Given the description of an element on the screen output the (x, y) to click on. 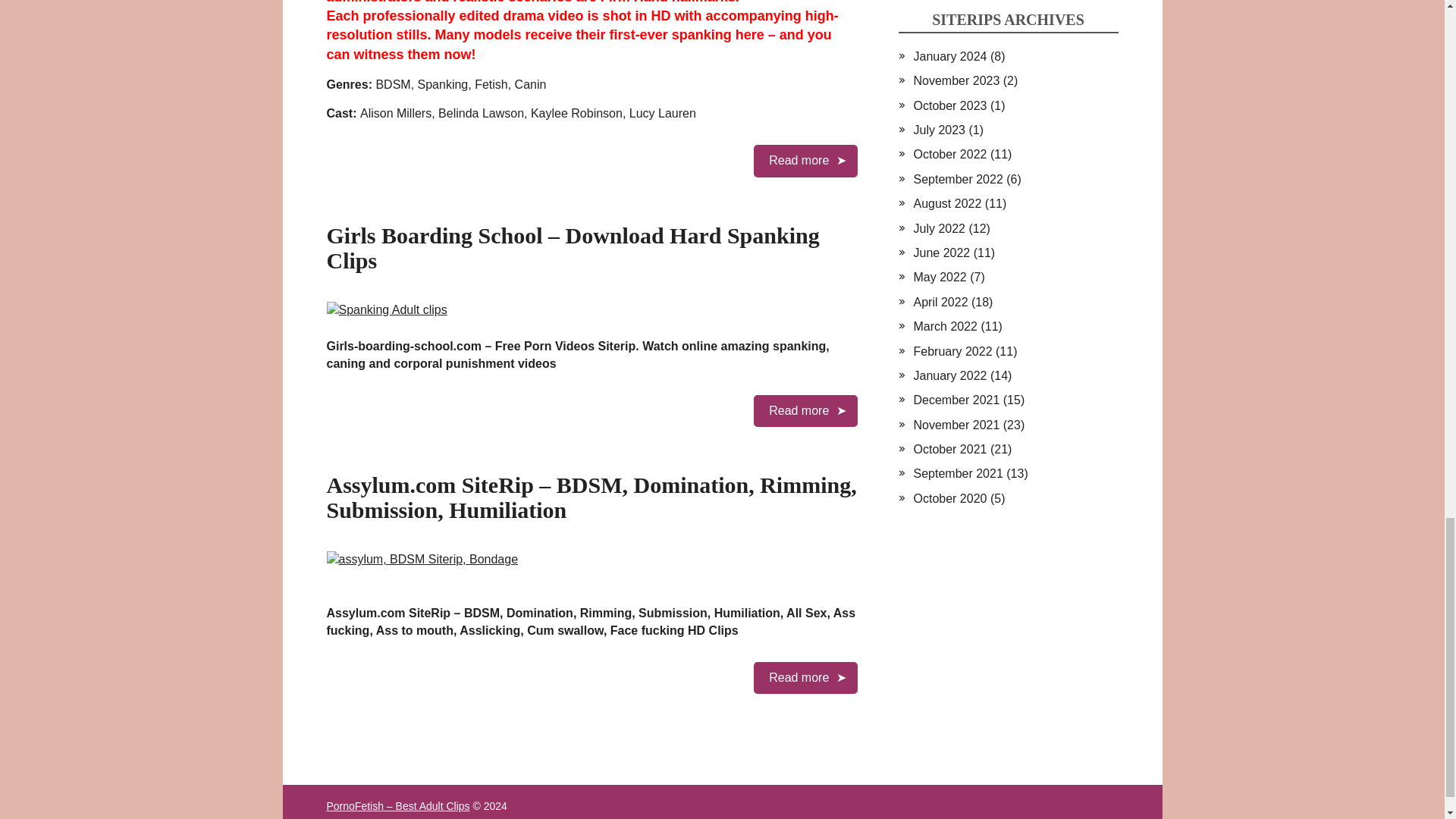
Read more (805, 410)
FirmHandSpanking.com Download Siterip Adult Videos (805, 160)
Read more (805, 677)
Read more (805, 160)
